Given the description of an element on the screen output the (x, y) to click on. 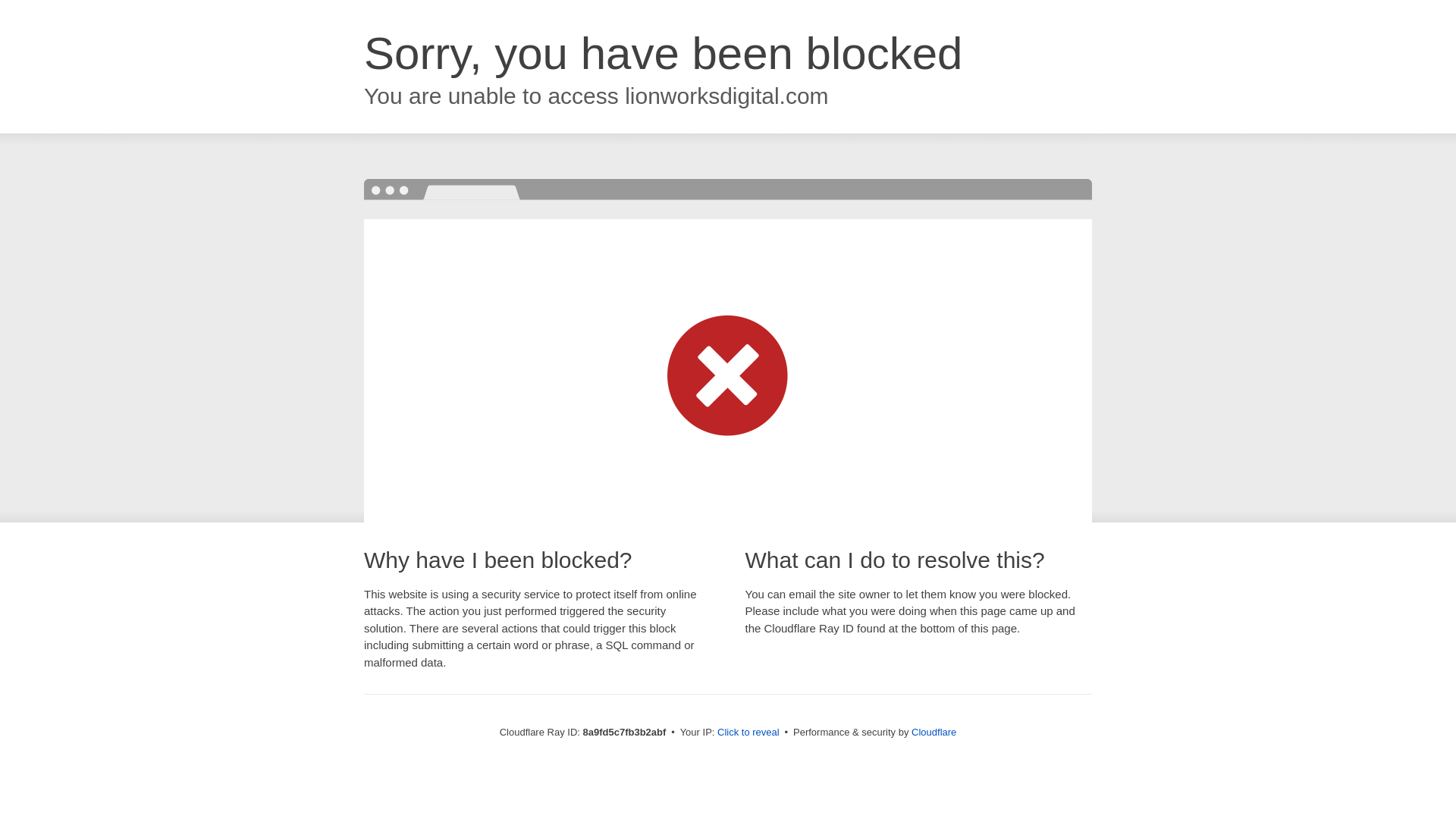
Cloudflare (933, 731)
Click to reveal (747, 732)
